Given the description of an element on the screen output the (x, y) to click on. 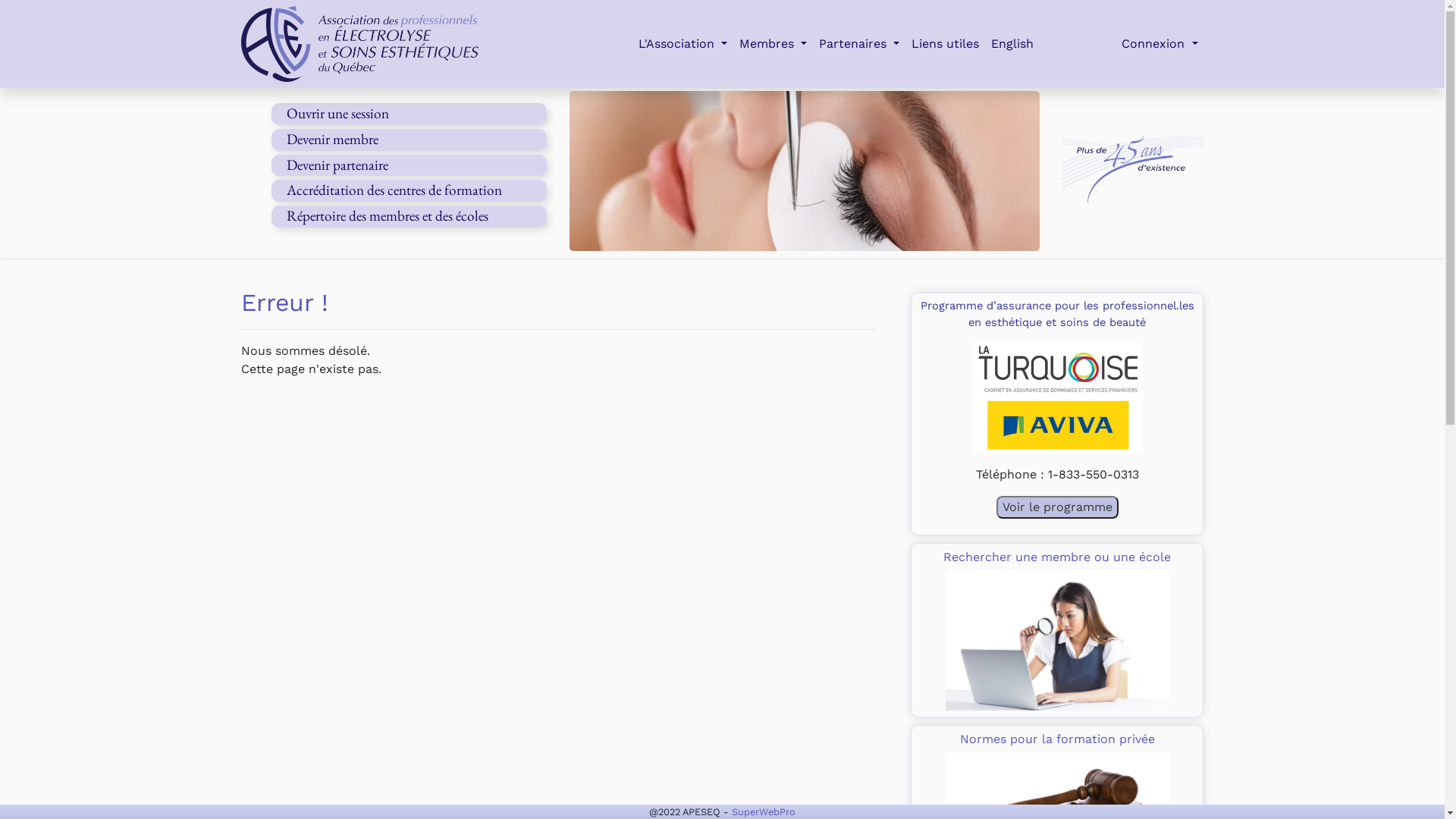
SuperWebPro Element type: text (763, 811)
  Element type: text (392, 43)
Voir le programme Element type: text (1057, 506)
Devenir membre Element type: text (332, 138)
L'Association Element type: text (682, 43)
English Element type: text (1012, 43)
Membres Element type: text (772, 43)
Devenir partenaire Element type: text (337, 164)
Connexion Element type: text (1159, 43)
Liens utiles Element type: text (945, 43)
Ouvrir une session Element type: text (337, 112)
Partenaires Element type: text (858, 43)
Voir le programme Element type: text (1057, 506)
